Given the description of an element on the screen output the (x, y) to click on. 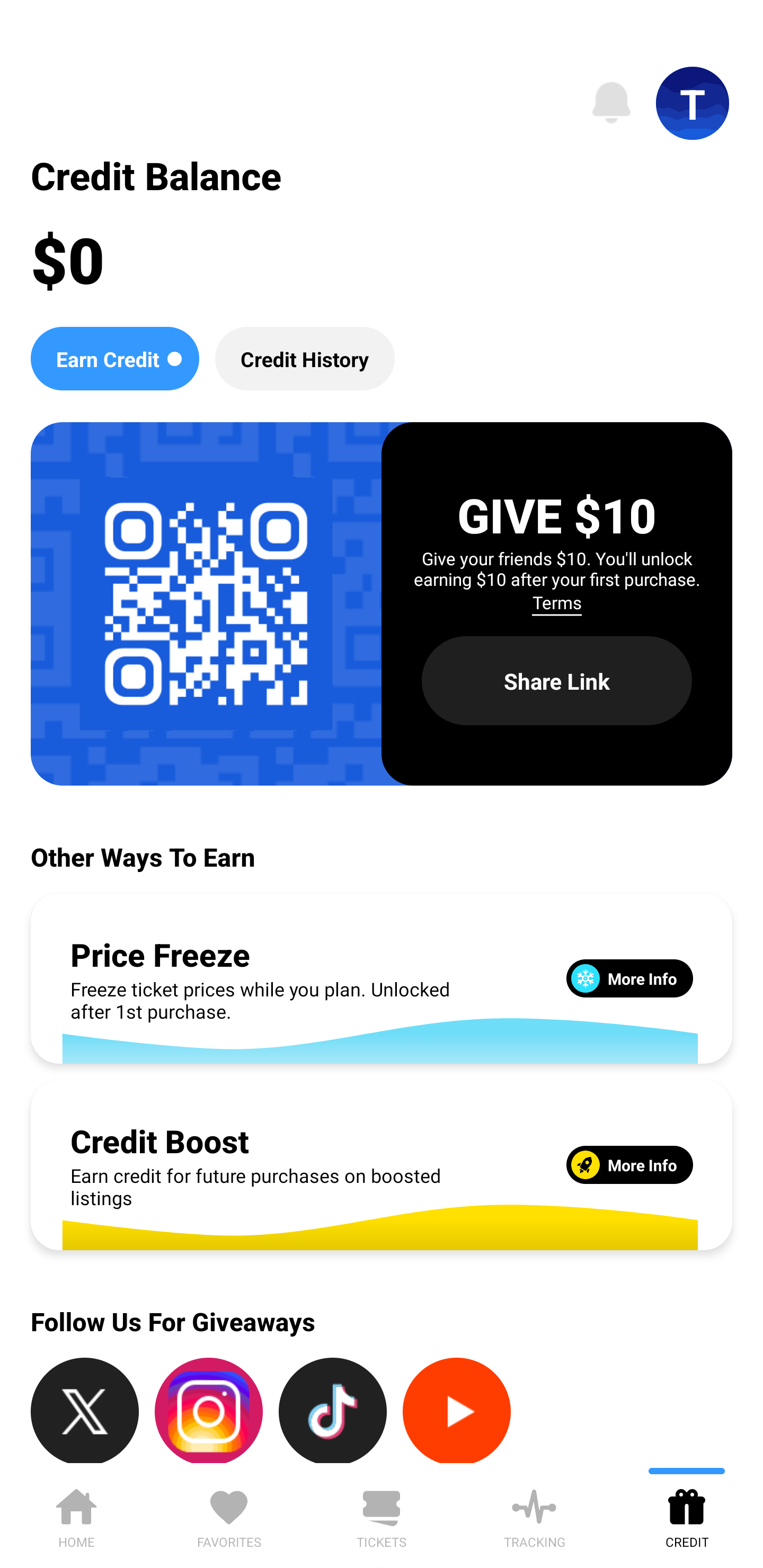
T (692, 103)
Earn Credit (114, 358)
Credit History (304, 358)
Share Link (556, 680)
More Info (629, 978)
More Info (629, 1164)
X (84, 1409)
Instagram (208, 1409)
TikTok (332, 1409)
YouTube (456, 1409)
HOME (76, 1515)
FAVORITES (228, 1515)
TICKETS (381, 1515)
TRACKING (533, 1515)
CREDIT (686, 1515)
